Given the description of an element on the screen output the (x, y) to click on. 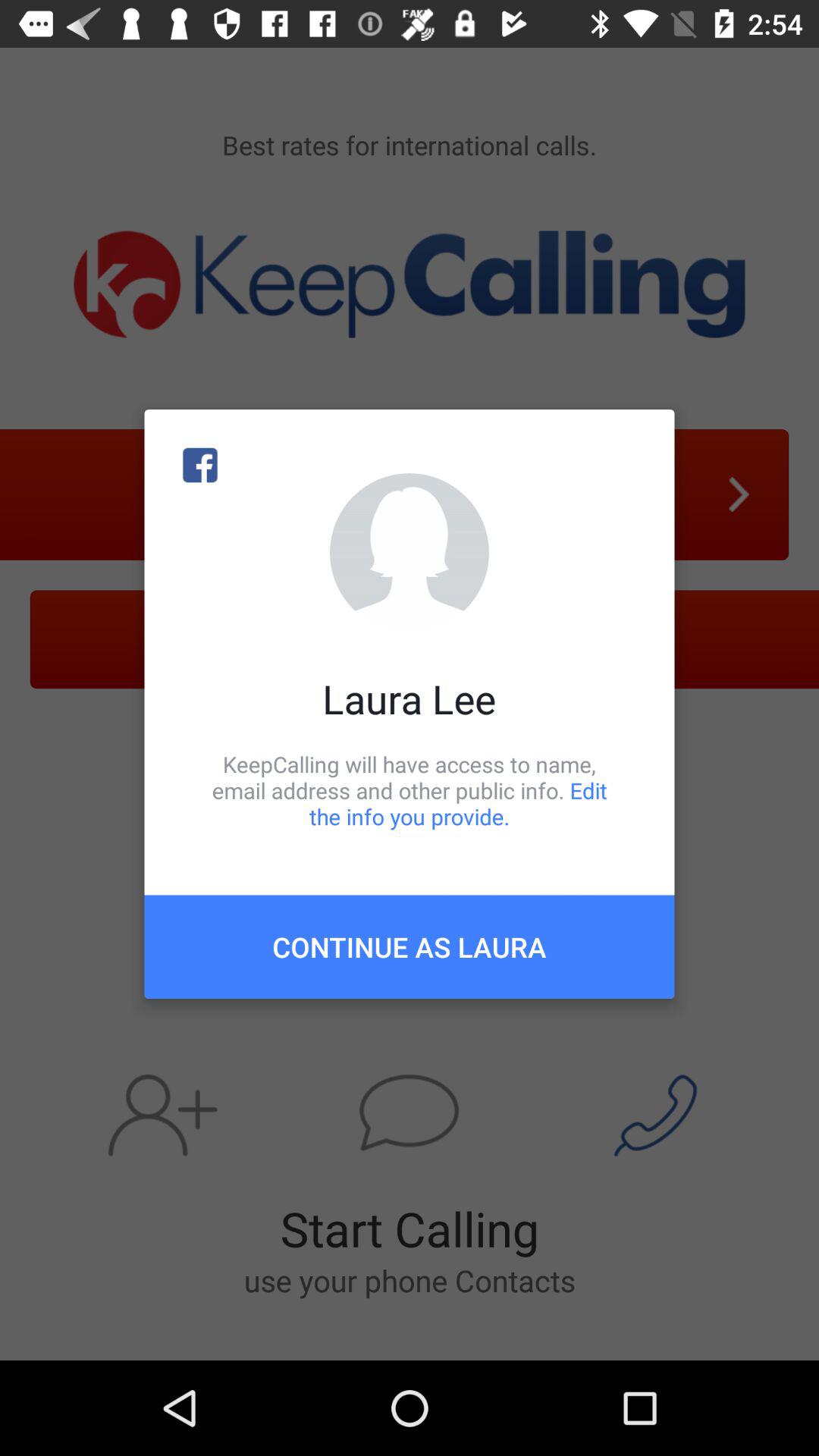
click the icon below keepcalling will have icon (409, 946)
